Given the description of an element on the screen output the (x, y) to click on. 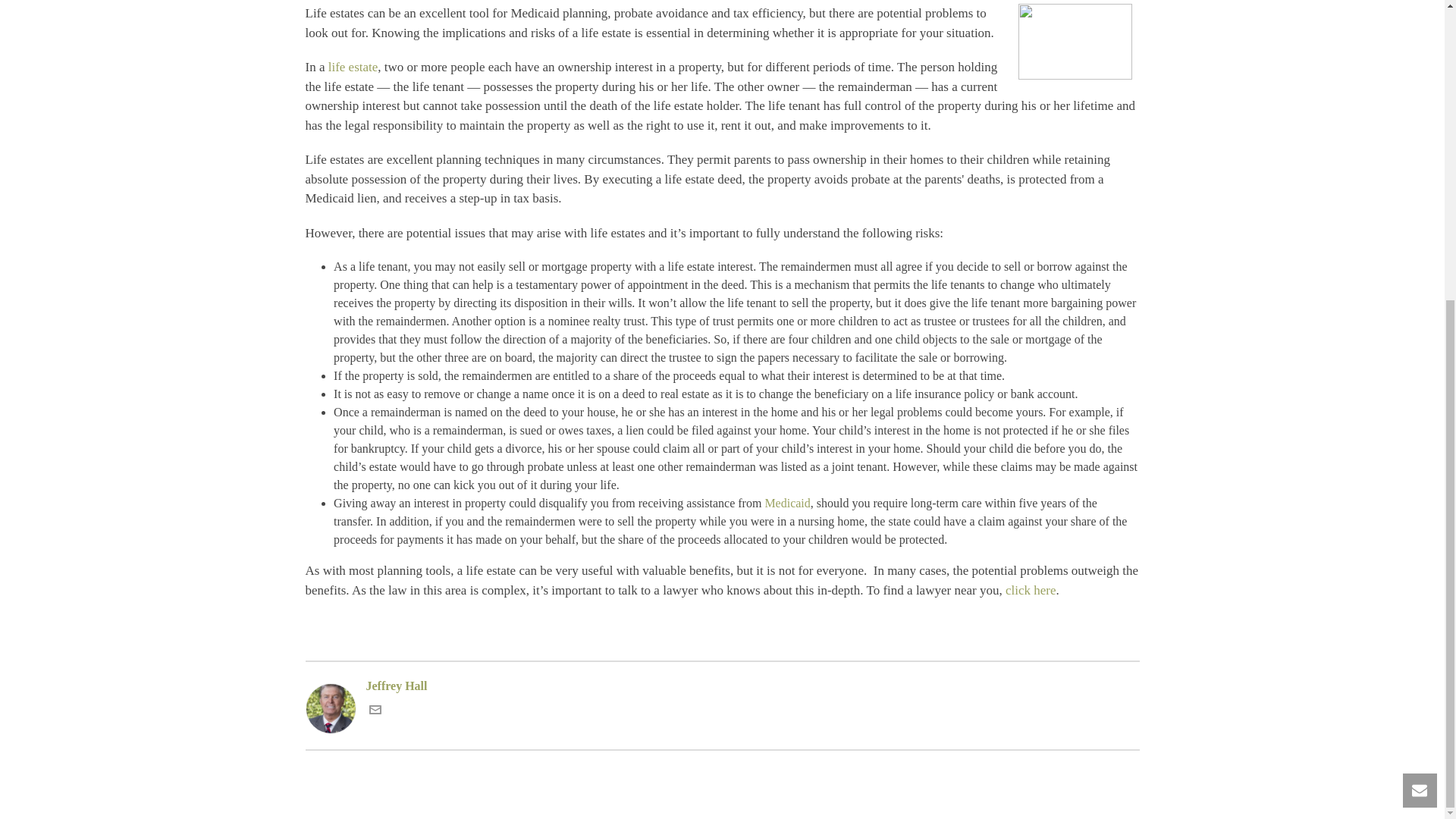
 facebook (1000, 66)
 linkedin (1035, 66)
Get in touch with me via email (374, 711)
